Given the description of an element on the screen output the (x, y) to click on. 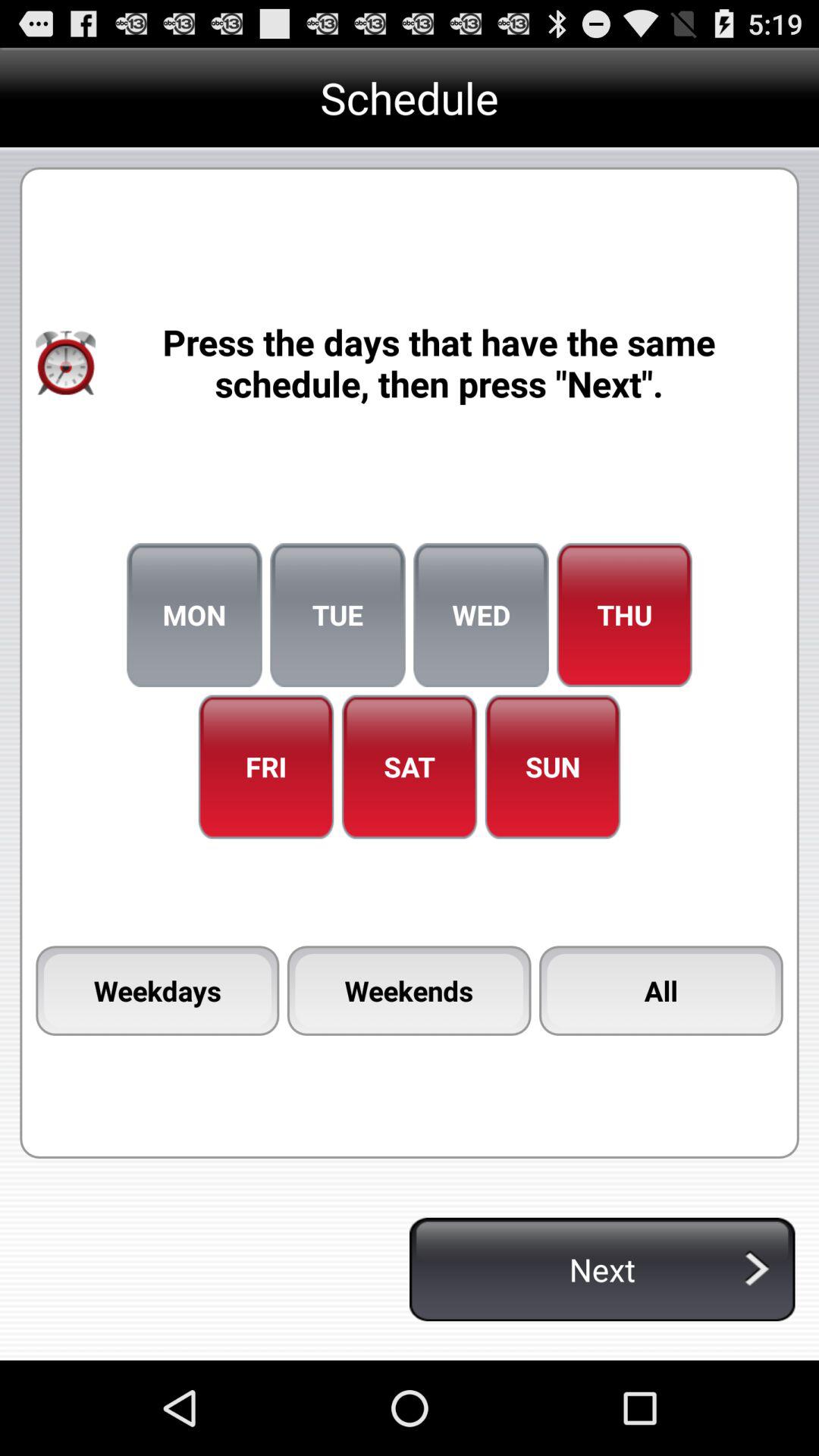
scroll to the all (661, 990)
